Given the description of an element on the screen output the (x, y) to click on. 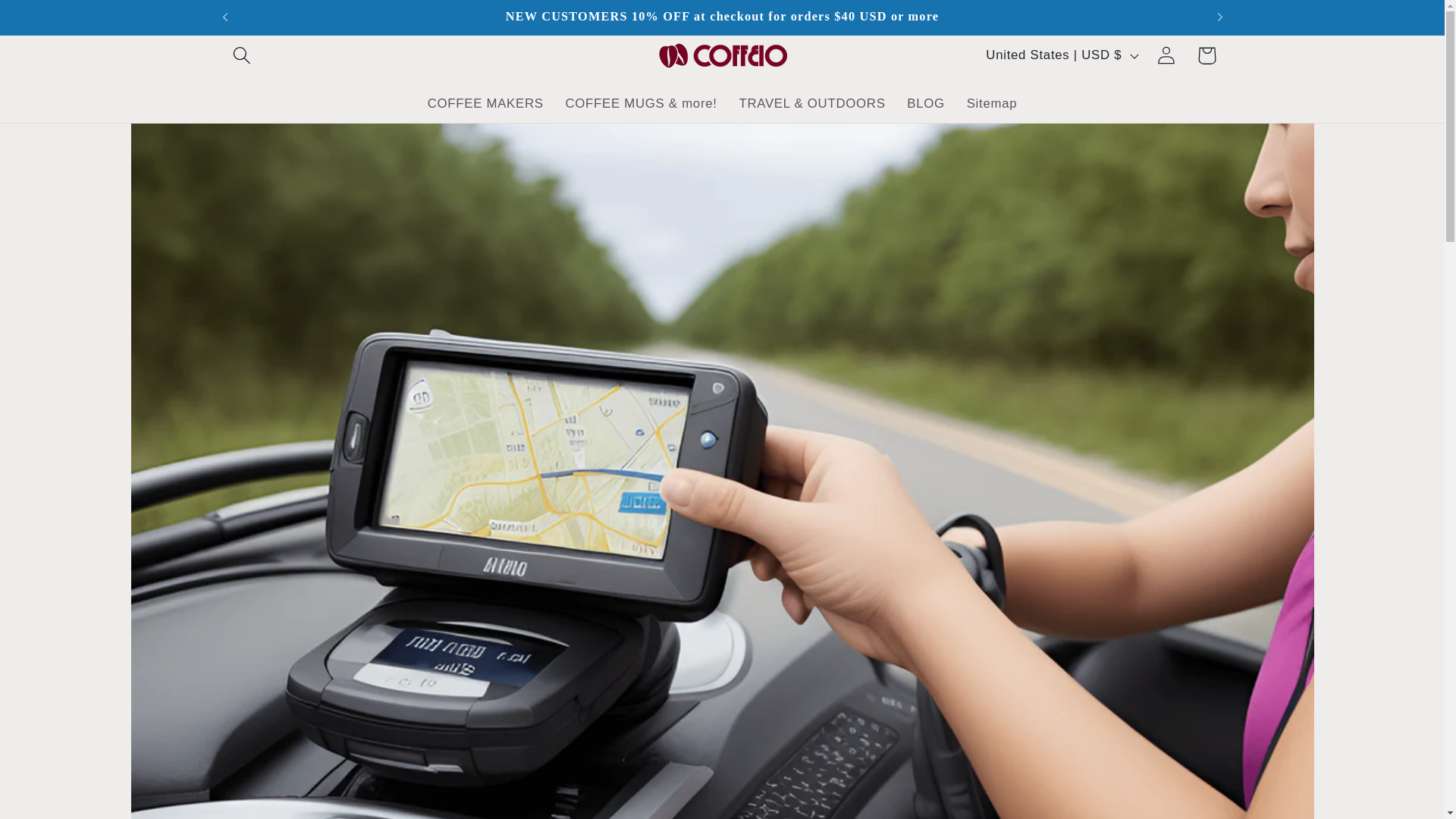
BLOG (925, 103)
Log in (1166, 56)
Cart (1205, 56)
Sitemap (991, 103)
Skip to content (55, 20)
COFFEE MAKERS (485, 103)
